Given the description of an element on the screen output the (x, y) to click on. 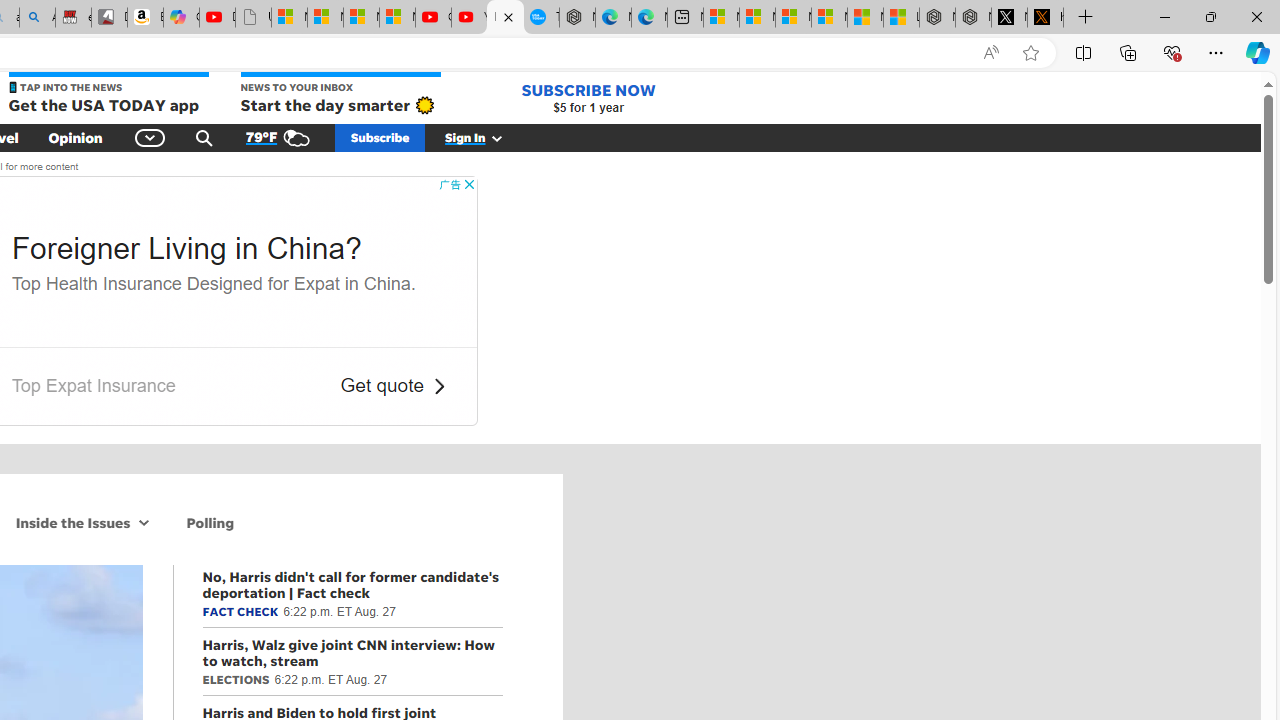
Class: ns-8fxrh-e-26 flip-on-rtl (438, 386)
SUBSCRIBE NOW $5 for 1 year (588, 97)
Opinion (75, 137)
Get quote (381, 385)
The most popular Google 'how to' searches (541, 17)
Untitled (253, 17)
AutomationID: cbb (468, 184)
Gloom - YouTube (433, 17)
Top Health Insurance Designed for Expat in China. (213, 282)
Foreigner Living in China? (186, 247)
